Given the description of an element on the screen output the (x, y) to click on. 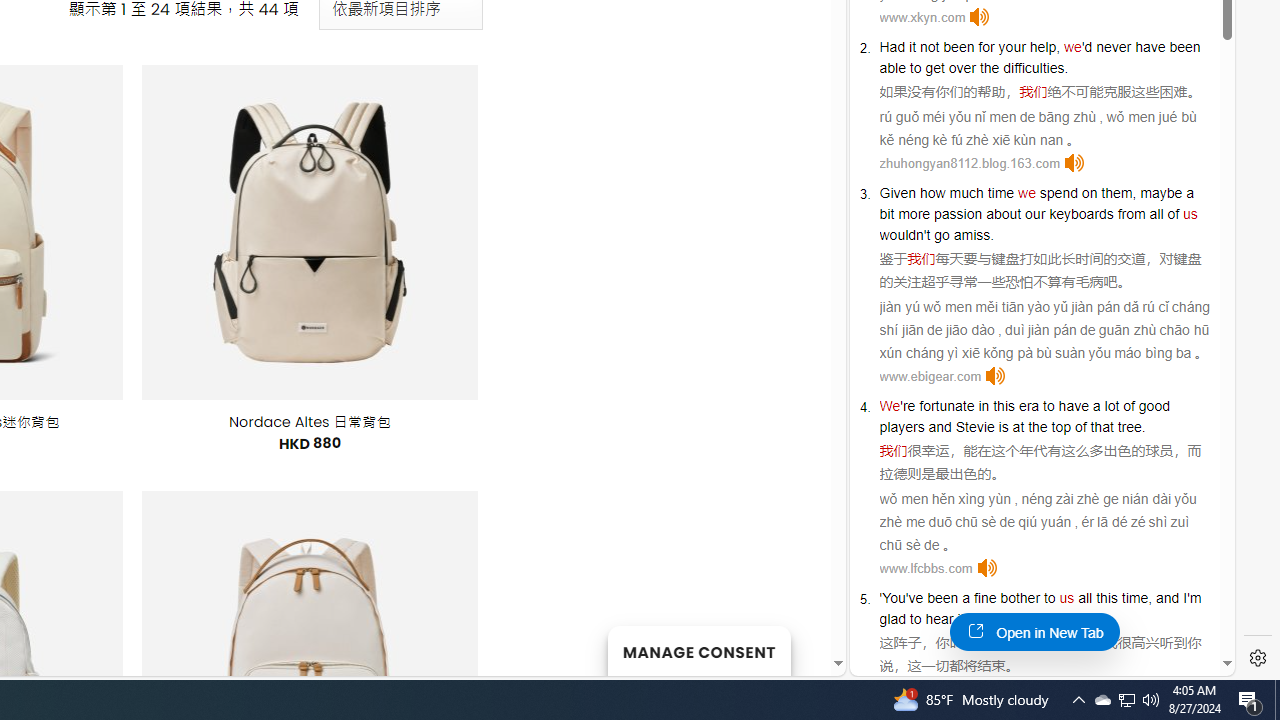
over (962, 67)
time (1000, 192)
is (1003, 426)
help (1043, 46)
the (989, 67)
players (902, 426)
this (1106, 597)
difficulties (1033, 67)
